Given the description of an element on the screen output the (x, y) to click on. 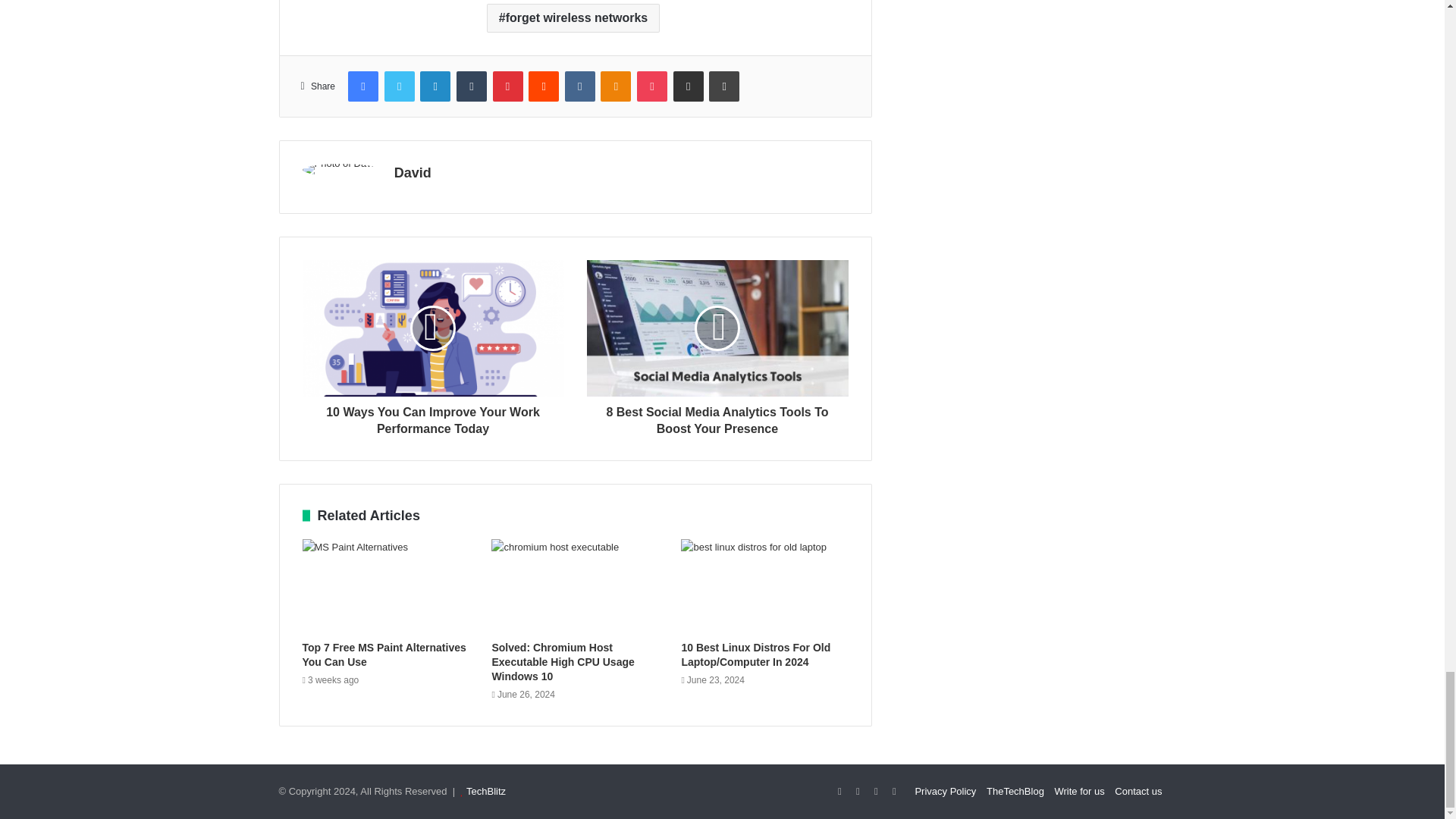
Twitter (399, 86)
Reddit (543, 86)
LinkedIn (434, 86)
forget wireless networks (573, 18)
Odnoklassniki (614, 86)
Pinterest (507, 86)
Tumblr (471, 86)
Facebook (362, 86)
Pinterest (507, 86)
David (412, 172)
